Given the description of an element on the screen output the (x, y) to click on. 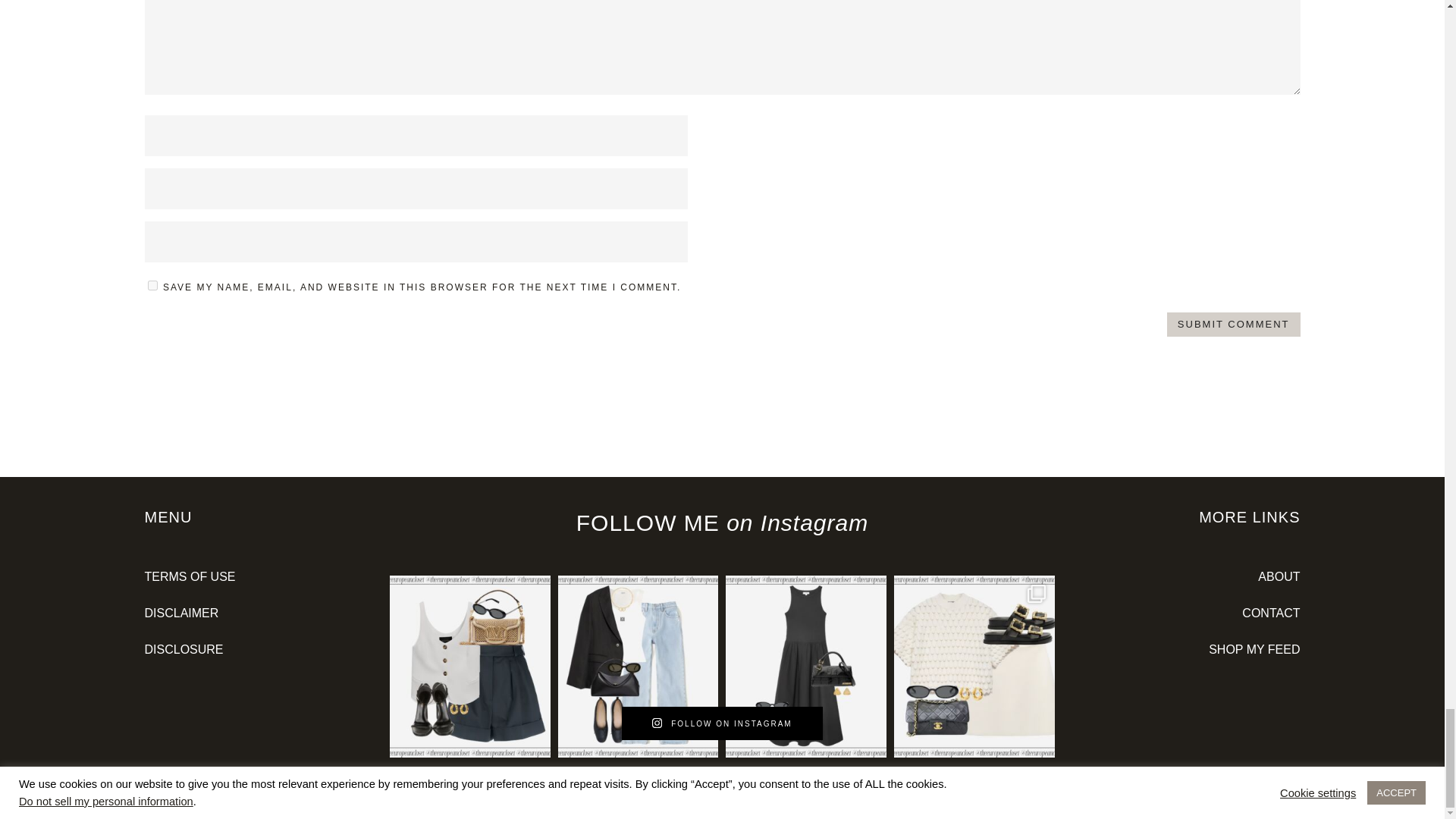
Follow on Pinterest (1165, 800)
Follow on Goodreads (1226, 800)
Follow on Twitter (1196, 800)
yes (152, 285)
Follow on TikTok (1256, 800)
Follow on Instagram (1136, 800)
